Given the description of an element on the screen output the (x, y) to click on. 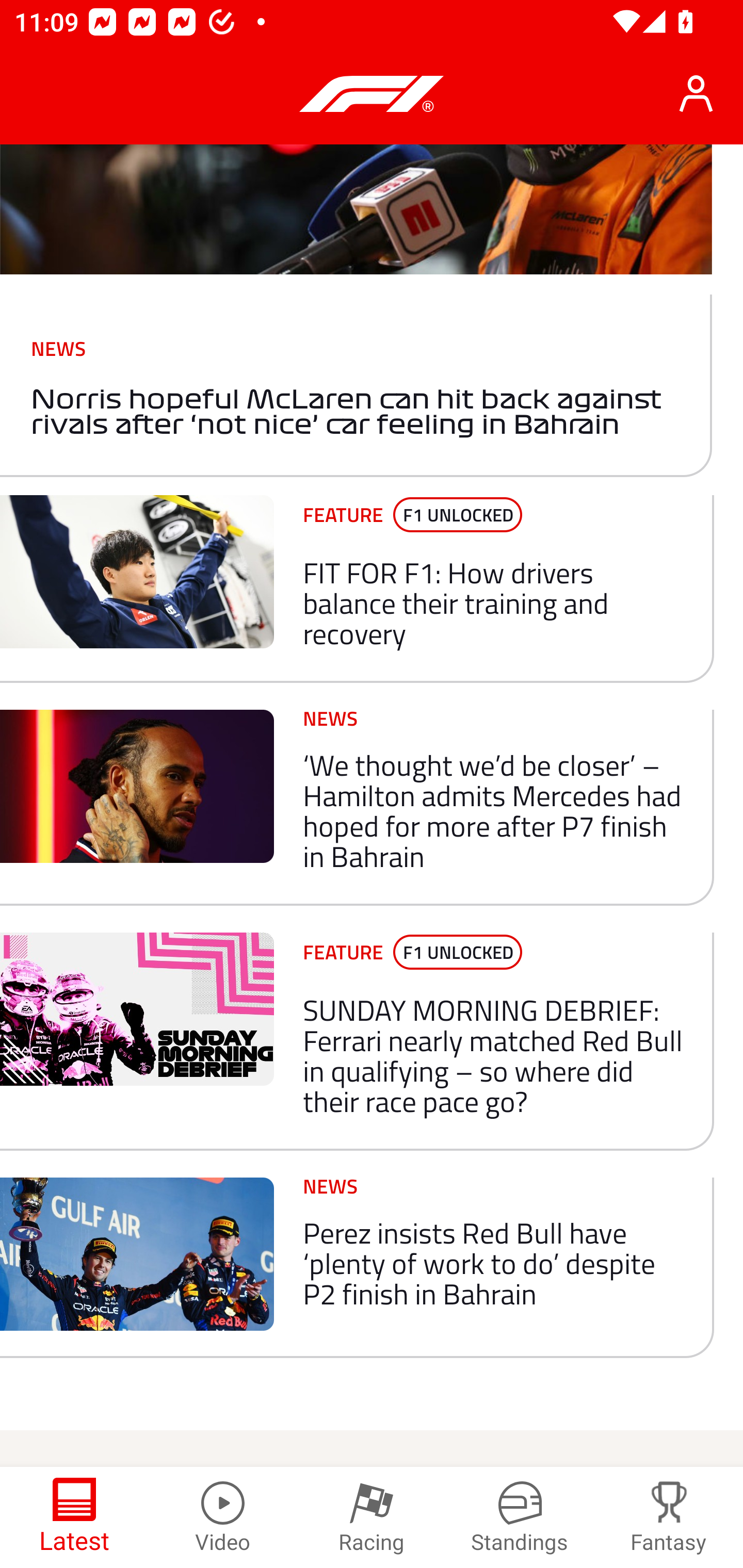
Video (222, 1517)
Racing (371, 1517)
Standings (519, 1517)
Fantasy (668, 1517)
